Given the description of an element on the screen output the (x, y) to click on. 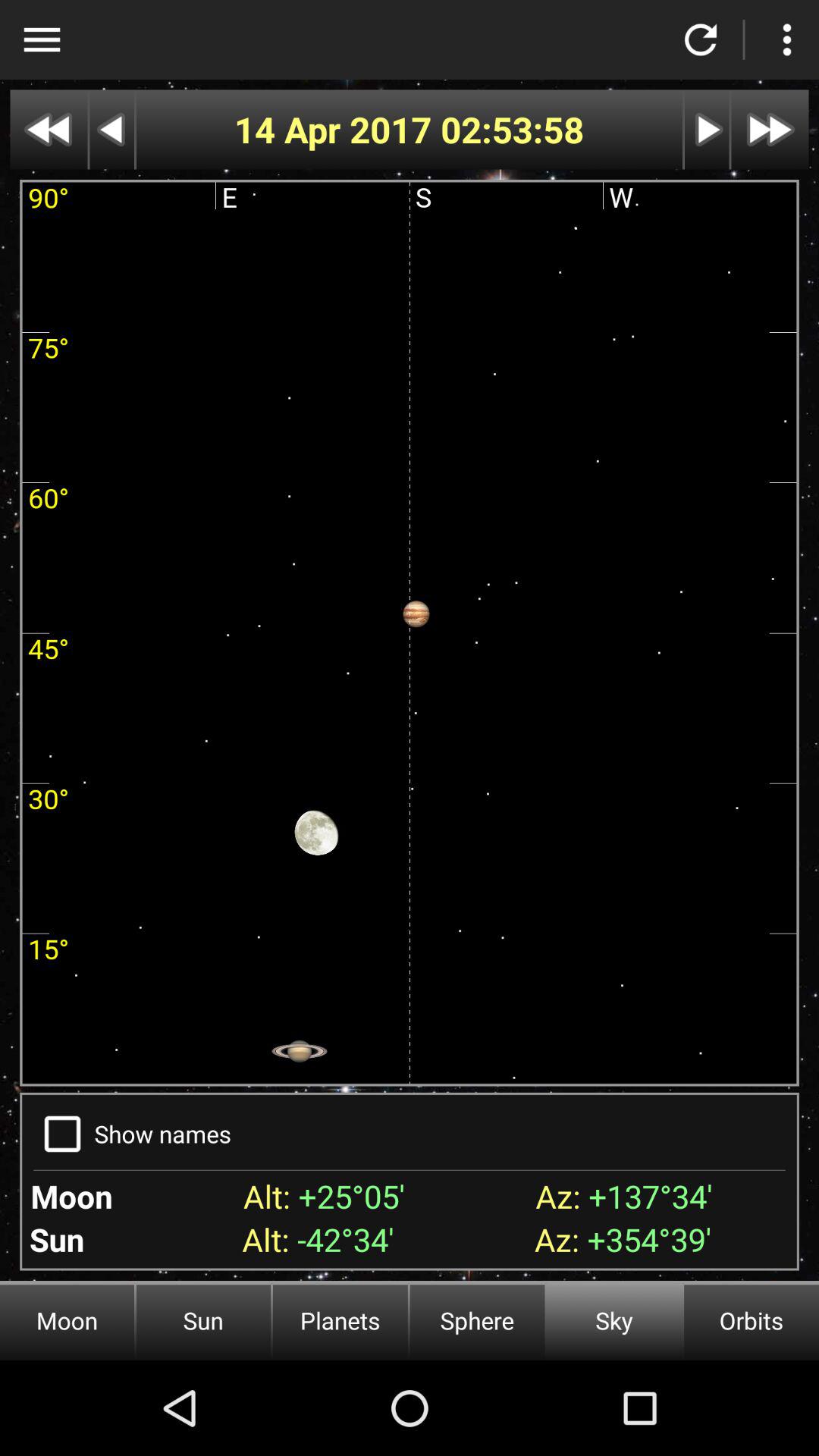
select a new menu (787, 39)
